Given the description of an element on the screen output the (x, y) to click on. 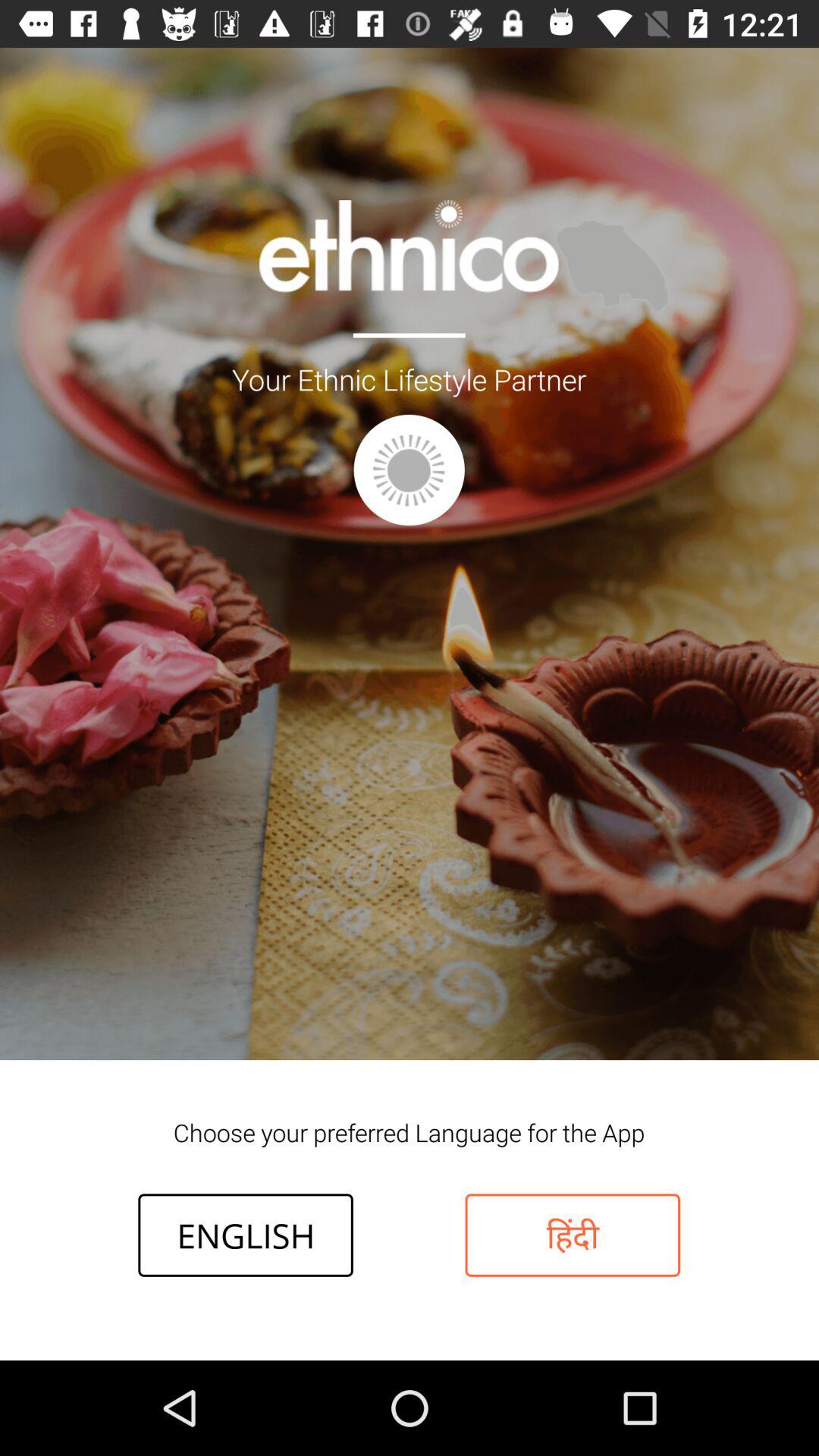
turn on item to the right of english (572, 1234)
